Given the description of an element on the screen output the (x, y) to click on. 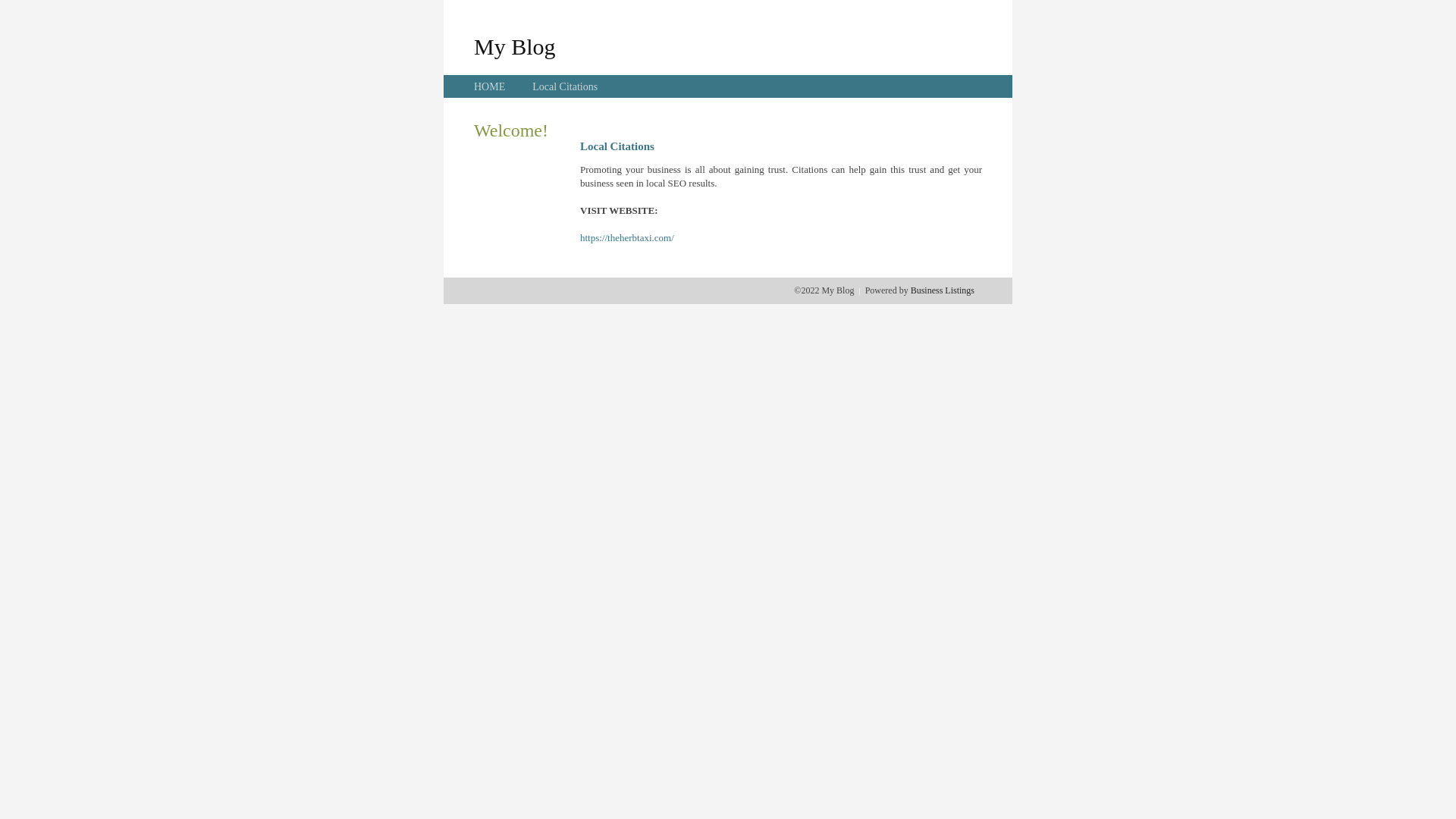
HOME Element type: text (489, 86)
https://theherbtaxi.com/ Element type: text (627, 237)
Business Listings Element type: text (942, 290)
Local Citations Element type: text (564, 86)
My Blog Element type: text (514, 46)
